Given the description of an element on the screen output the (x, y) to click on. 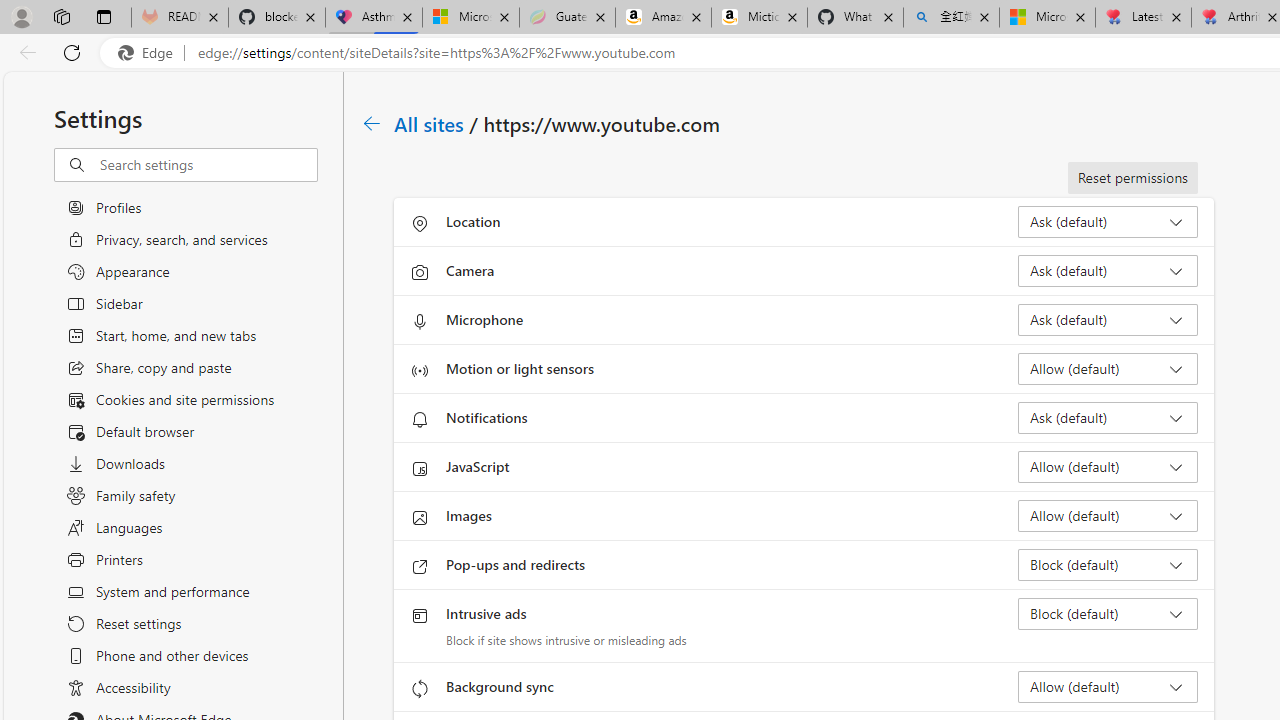
Notifications Ask (default) (1107, 417)
Motion or light sensors Allow (default) (1107, 368)
Edge (150, 53)
Intrusive ads Block (default) (1107, 614)
All sites (429, 123)
Microphone Ask (default) (1107, 319)
JavaScript Allow (default) (1107, 466)
